Given the description of an element on the screen output the (x, y) to click on. 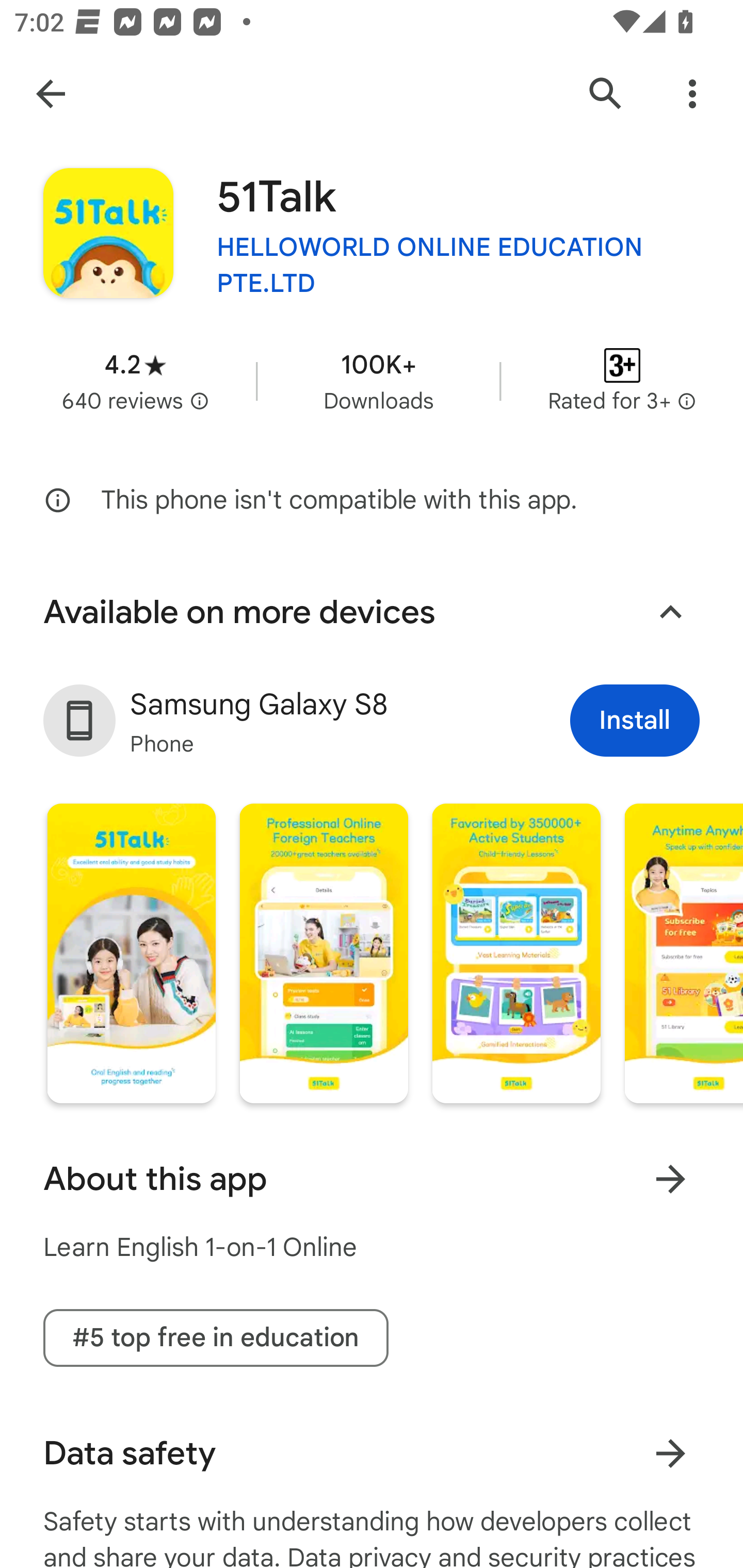
Navigate up (50, 93)
Search Google Play (605, 93)
More Options (692, 93)
HELLOWORLD ONLINE EDUCATION PTE.LTD (457, 265)
Average rating 4.2 stars in 640 reviews (135, 381)
Content rating Rated for 3+ (622, 381)
Available on more devices Collapse (371, 612)
Collapse (670, 612)
Install (634, 720)
Screenshot "1" of "5" (130, 952)
Screenshot "2" of "5" (323, 952)
Screenshot "3" of "5" (515, 952)
Screenshot "4" of "5" (683, 952)
About this app Learn more About this app (371, 1178)
Learn more About this app (670, 1179)
#5 top free in education tag (215, 1338)
Data safety Learn more about data safety (371, 1453)
Learn more about data safety (670, 1453)
